Given the description of an element on the screen output the (x, y) to click on. 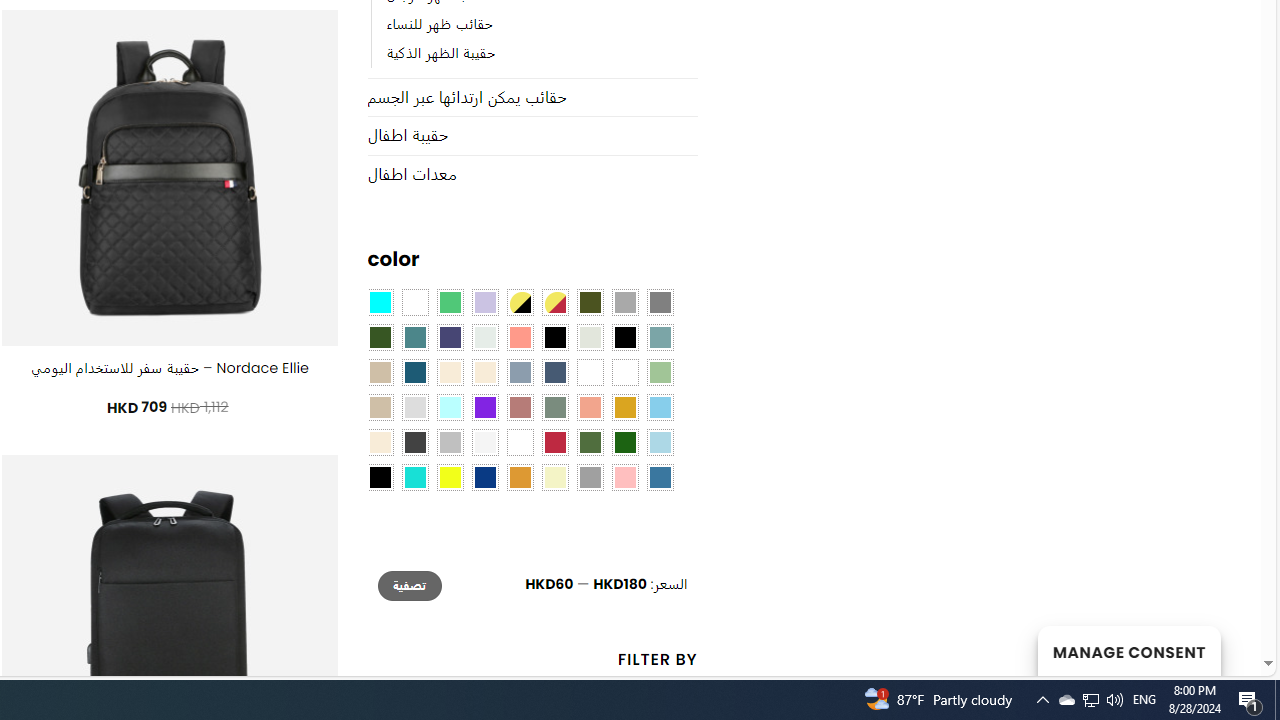
Capri Blue (414, 372)
Purple (484, 408)
Yellow-Red (554, 303)
Emerald Green (449, 303)
Cream (484, 372)
Rose (519, 408)
